Given the description of an element on the screen output the (x, y) to click on. 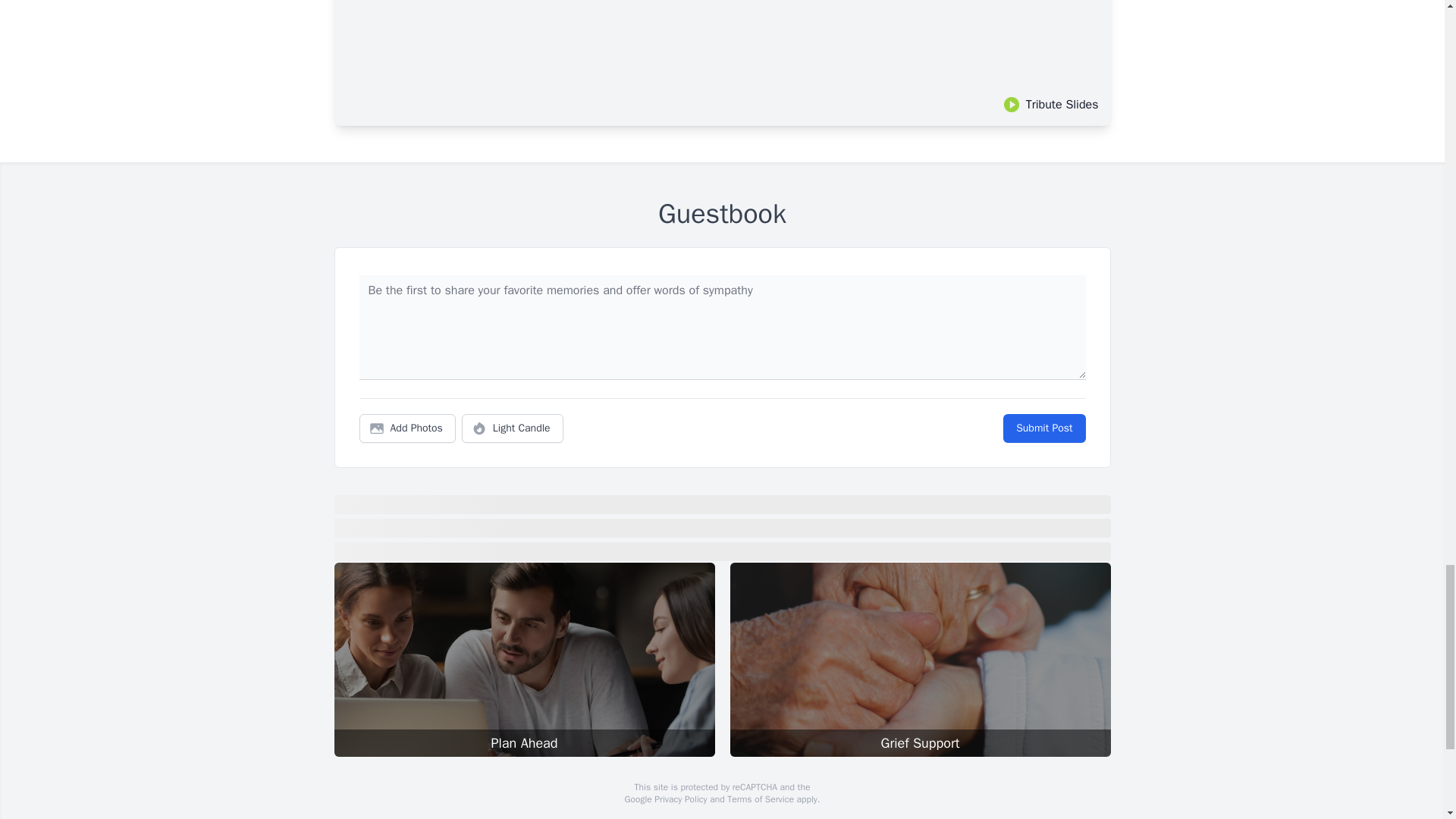
Light Candle (512, 428)
Submit Post (1043, 428)
Privacy Policy (679, 799)
Terms of Service (759, 799)
Plan Ahead (523, 659)
Add Photos (407, 428)
Grief Support (919, 659)
OpenStreetMap (737, 818)
